Given the description of an element on the screen output the (x, y) to click on. 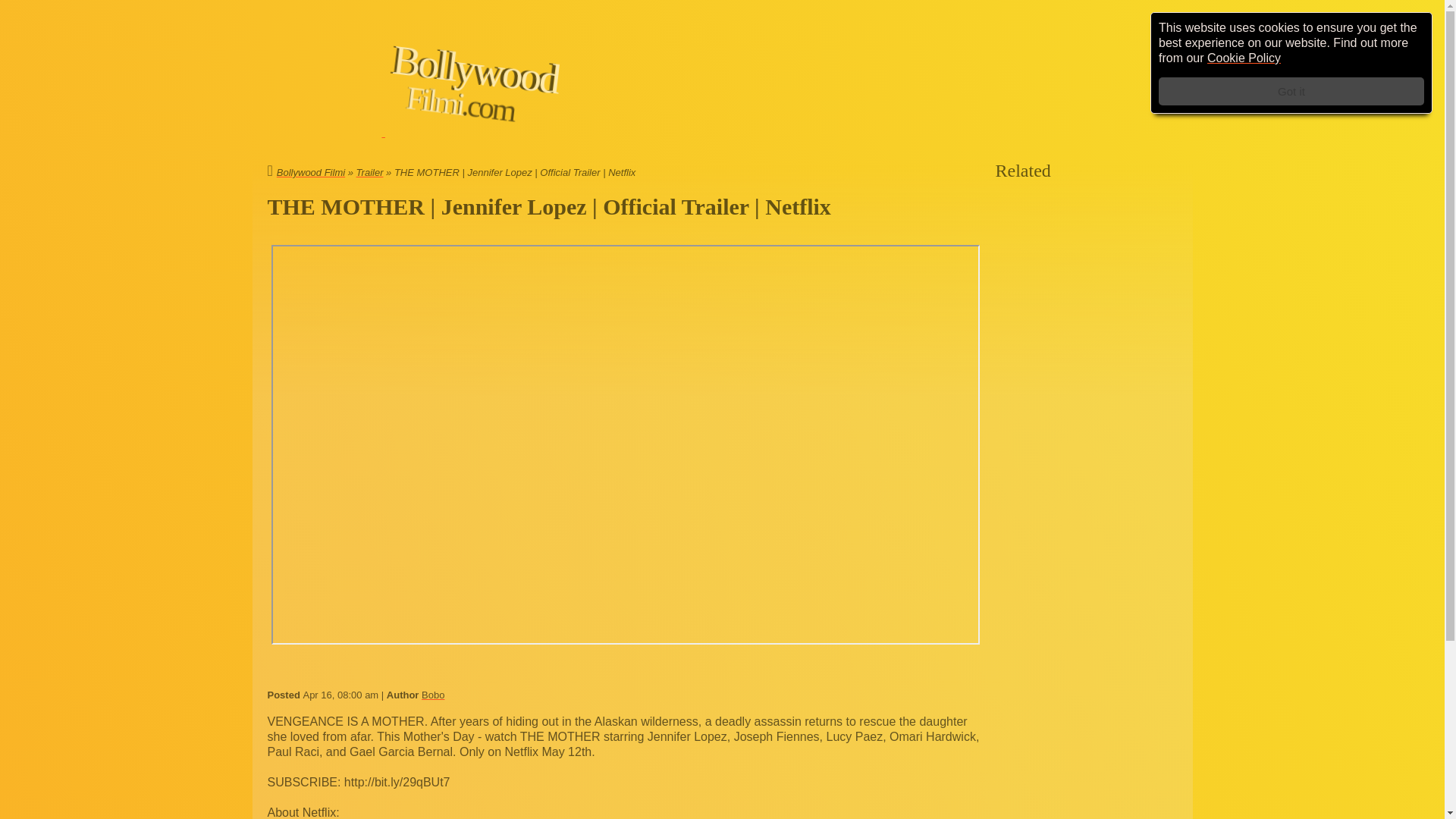
Cookie Policy (1244, 57)
Trailer (370, 172)
Got it (1290, 90)
Bobo (433, 695)
Bollywood Filmi (305, 172)
